Given the description of an element on the screen output the (x, y) to click on. 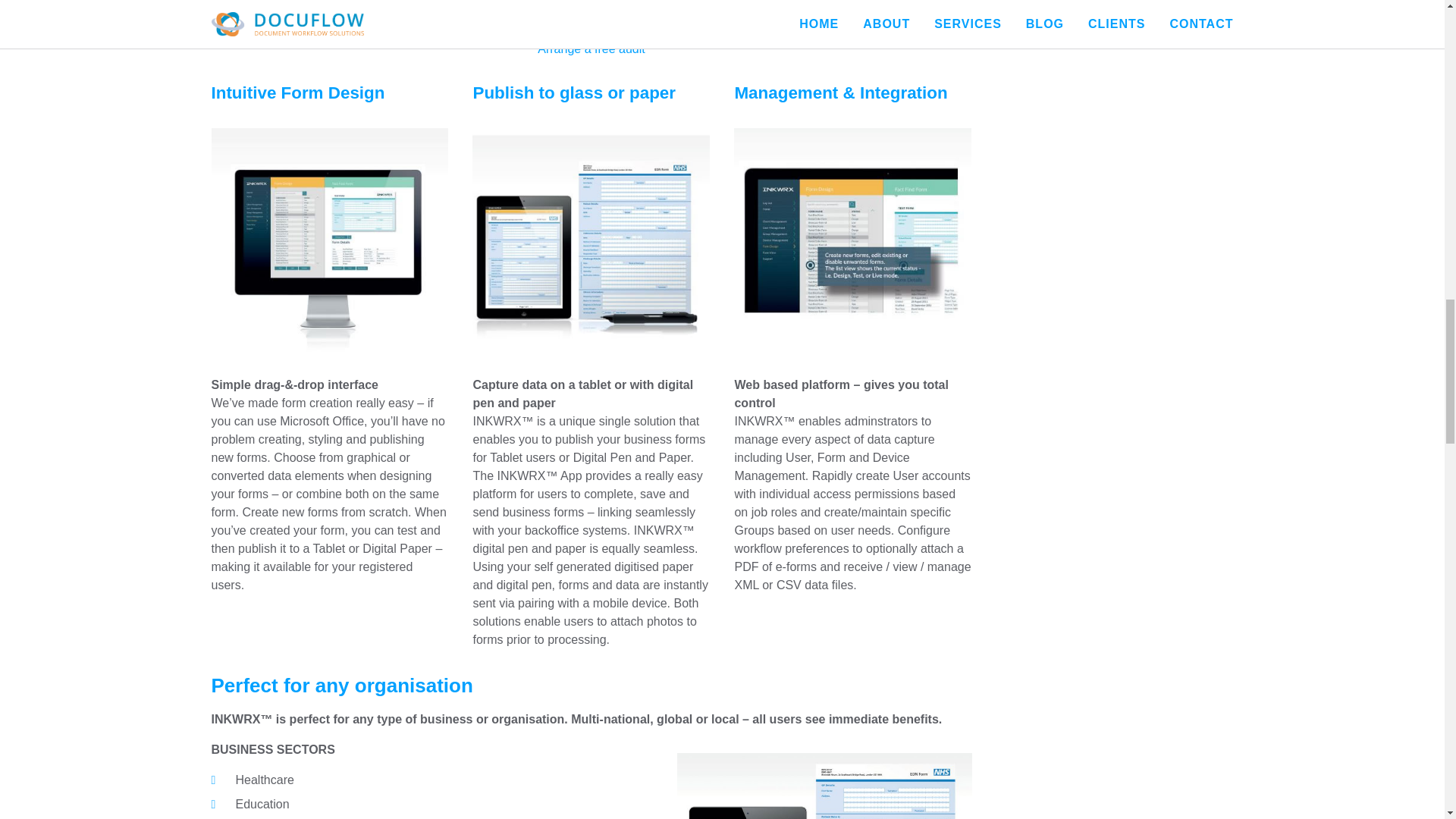
Arrange a free audit (591, 48)
